Given the description of an element on the screen output the (x, y) to click on. 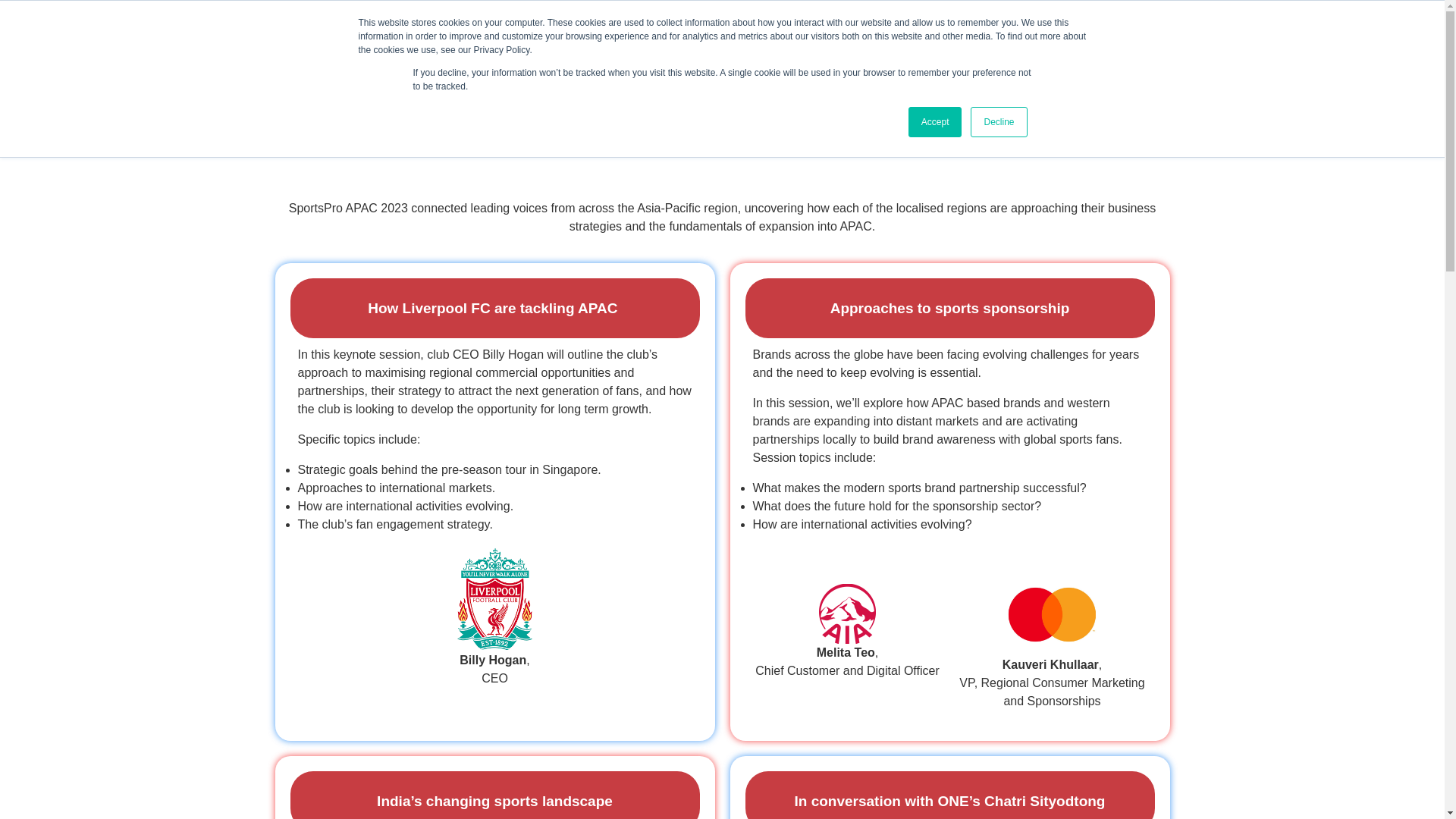
REGISTER YOUR INTEREST (1101, 45)
2024 Content (473, 39)
Event Partners (815, 39)
Accept (935, 122)
Venue and more (943, 39)
Who Attends (699, 39)
2024 Speakers (587, 39)
Decline (998, 122)
